Given the description of an element on the screen output the (x, y) to click on. 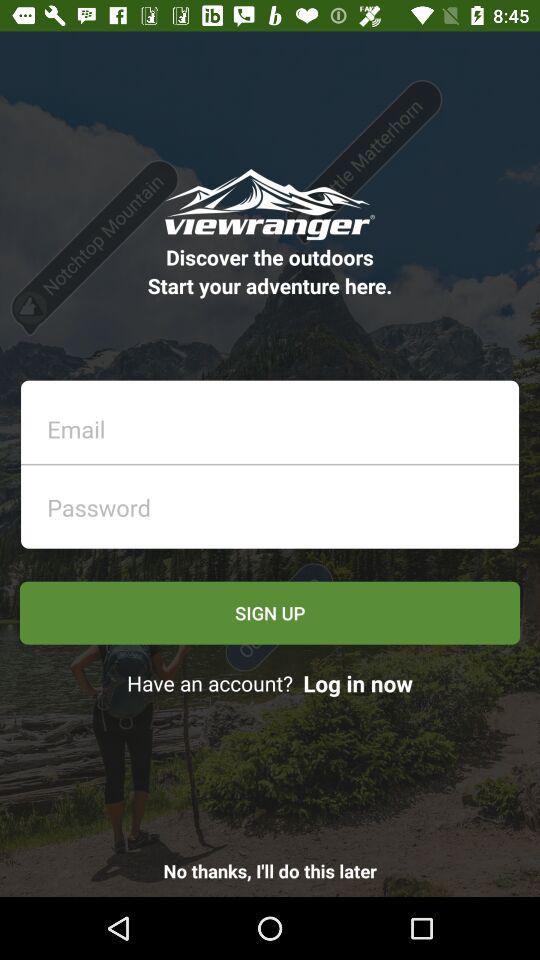
password (276, 501)
